Given the description of an element on the screen output the (x, y) to click on. 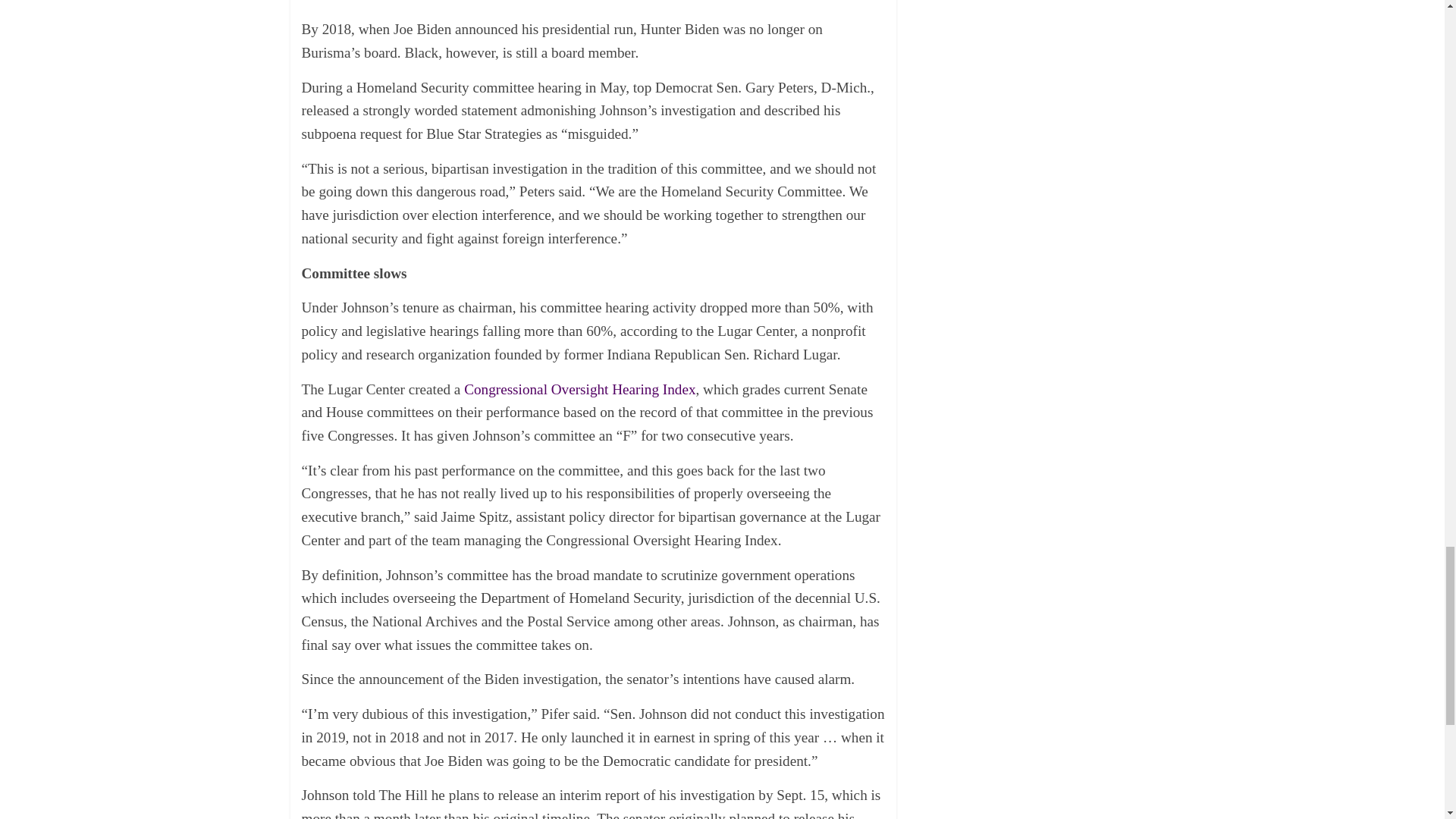
Congressional Oversight Hearing Index (579, 389)
